Given the description of an element on the screen output the (x, y) to click on. 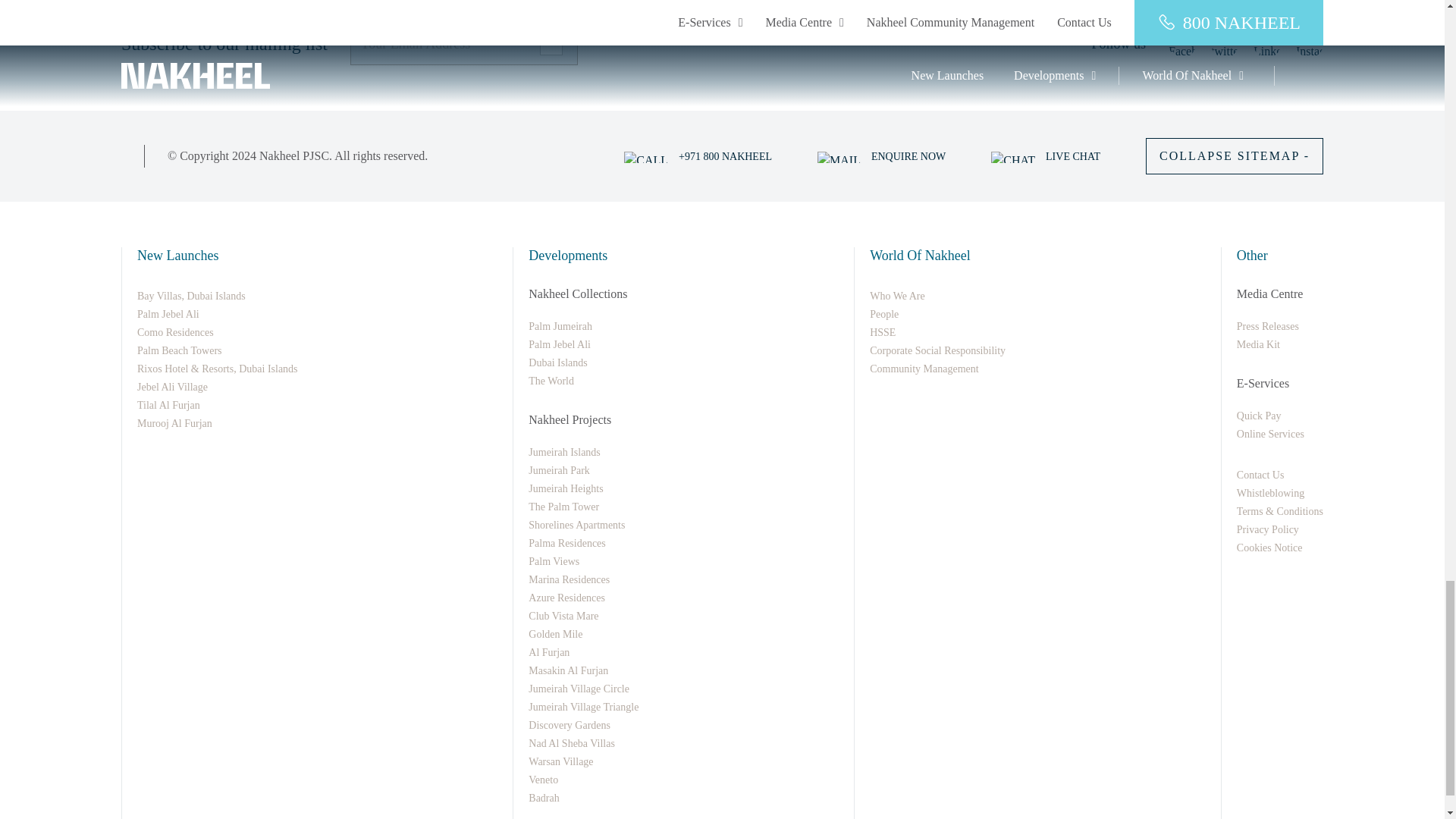
Icon-call (646, 156)
Icon-Chat (1013, 156)
Icon-Mail (838, 156)
